Given the description of an element on the screen output the (x, y) to click on. 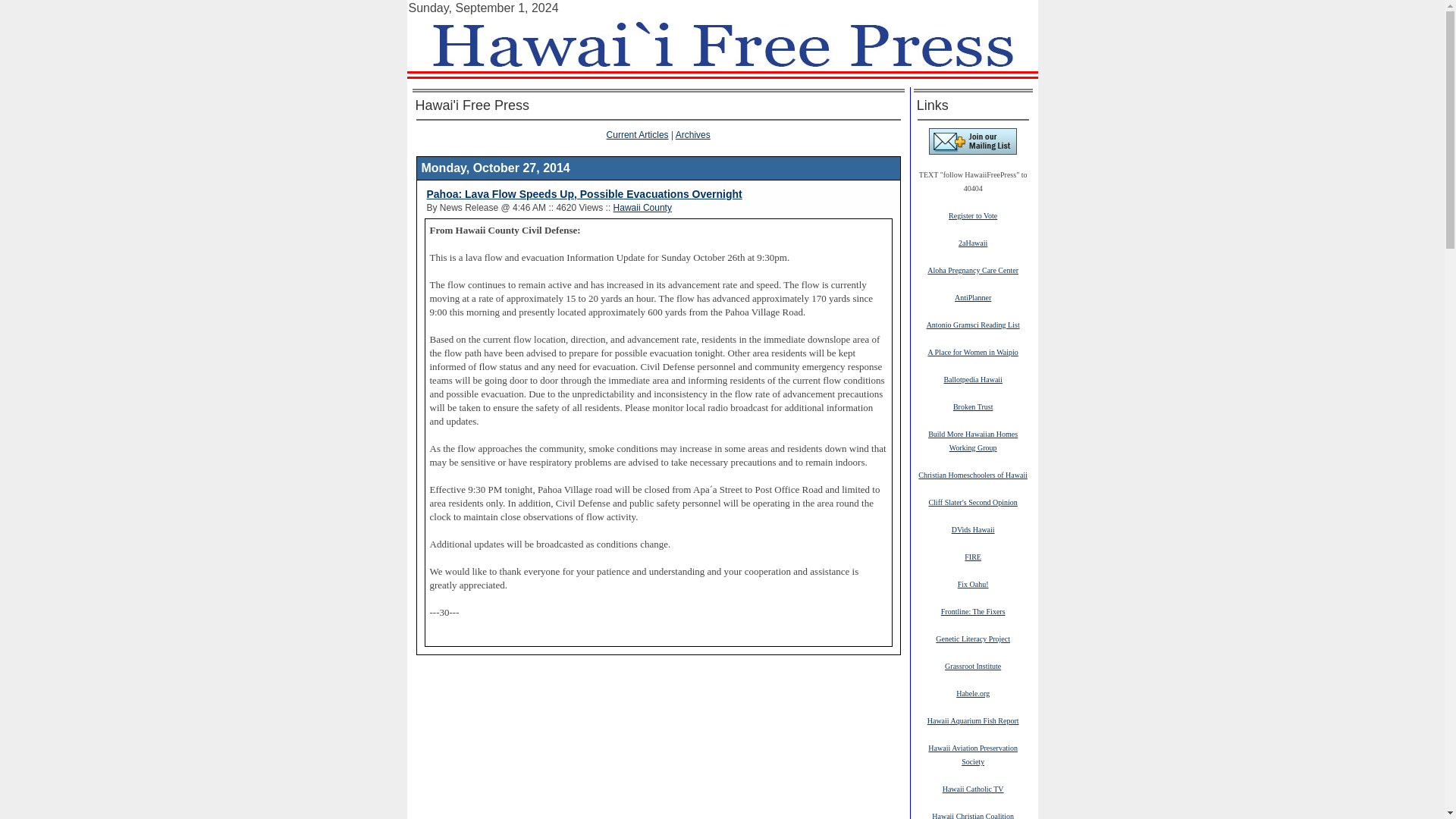
Grassroot Institute (972, 665)
Pahoa: Lava Flow Speeds Up, Possible Evacuations Overnight (583, 193)
Hawaii County (641, 207)
2aHawaii (972, 242)
A Place for Women in Waipio (972, 351)
Frontline: The Fixers (973, 611)
Broken Trust (972, 406)
Cliff Slater's Second Opinion (972, 501)
Ballotpedia Hawaii (972, 378)
Archives (692, 134)
